Given the description of an element on the screen output the (x, y) to click on. 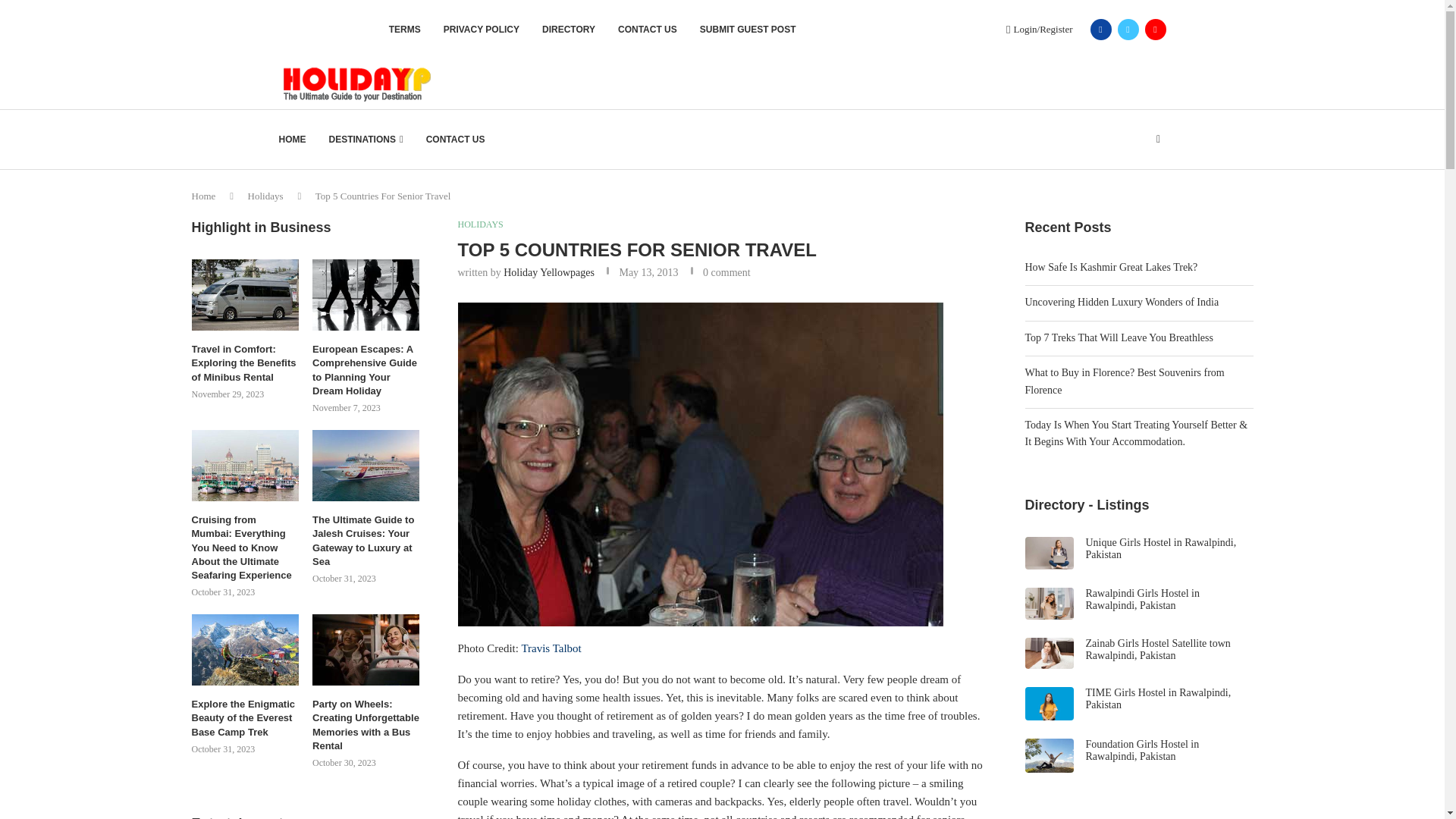
TIME Girls Hostel in Rawalpindi, Pakistan (1158, 698)
Rawalpindi Girls Hostel in Rawalpindi, Pakistan (1142, 598)
Zainab Girls Hostel Satellite town Rawalpindi, Pakistan (1158, 649)
CONTACT US (647, 29)
Foundation Girls Hostel in Rawalpindi, Pakistan (1142, 750)
SUBMIT GUEST POST (748, 29)
Unique Girls Hostel in Rawalpindi, Pakistan (1161, 548)
DESTINATIONS (366, 139)
DIRECTORY (568, 29)
PRIVACY POLICY (481, 29)
